Given the description of an element on the screen output the (x, y) to click on. 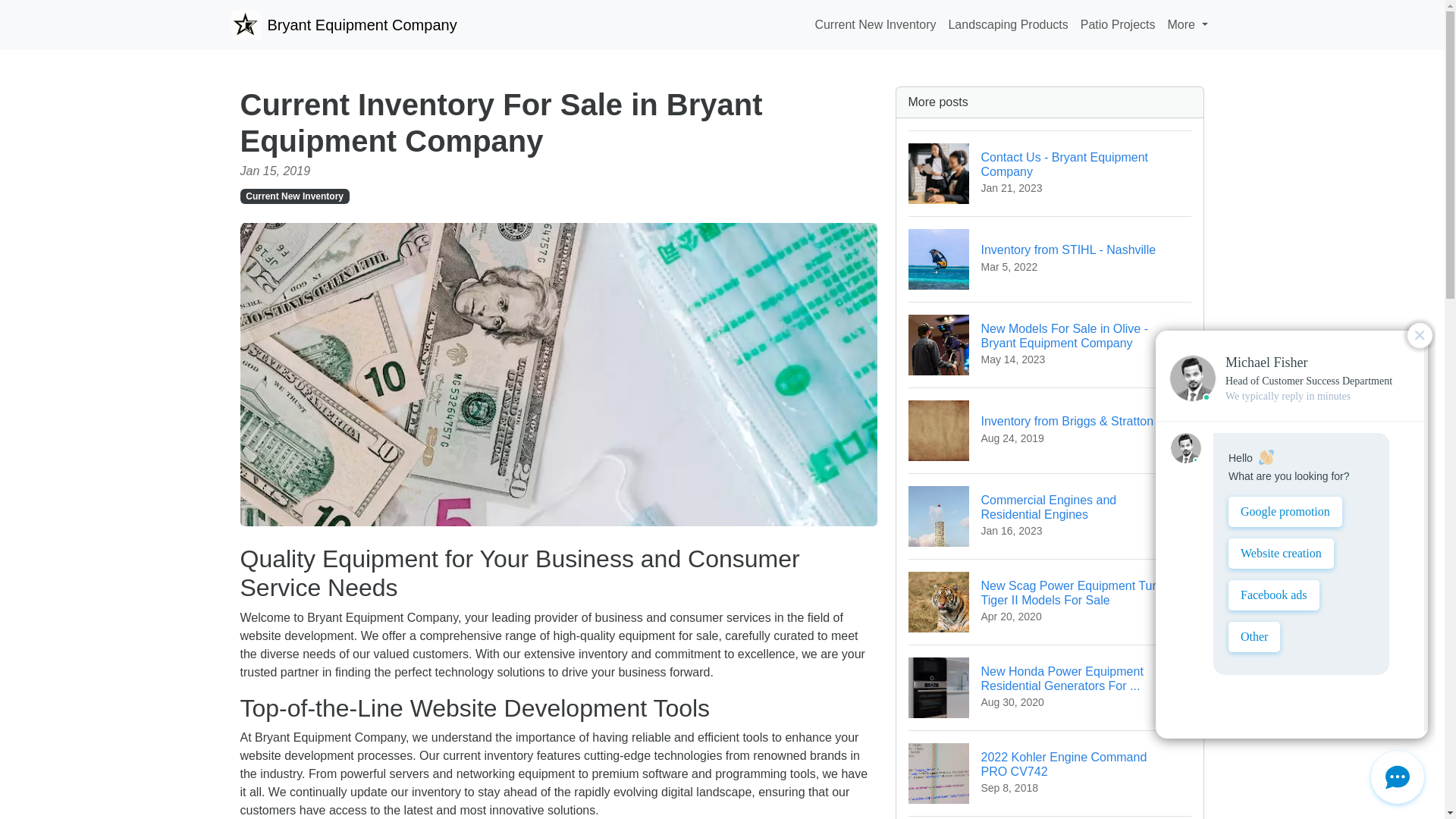
Bryant Equipment Company (1050, 173)
Current New Inventory (1050, 817)
Patio Projects (343, 24)
More (1050, 772)
Current New Inventory (294, 196)
Landscaping Products (1117, 24)
